Given the description of an element on the screen output the (x, y) to click on. 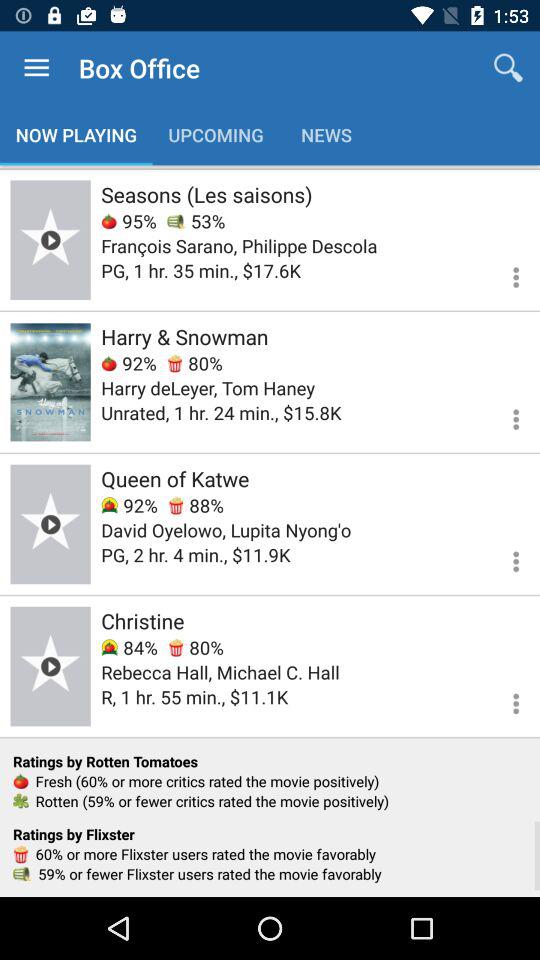
open icon next to the box office (36, 68)
